Given the description of an element on the screen output the (x, y) to click on. 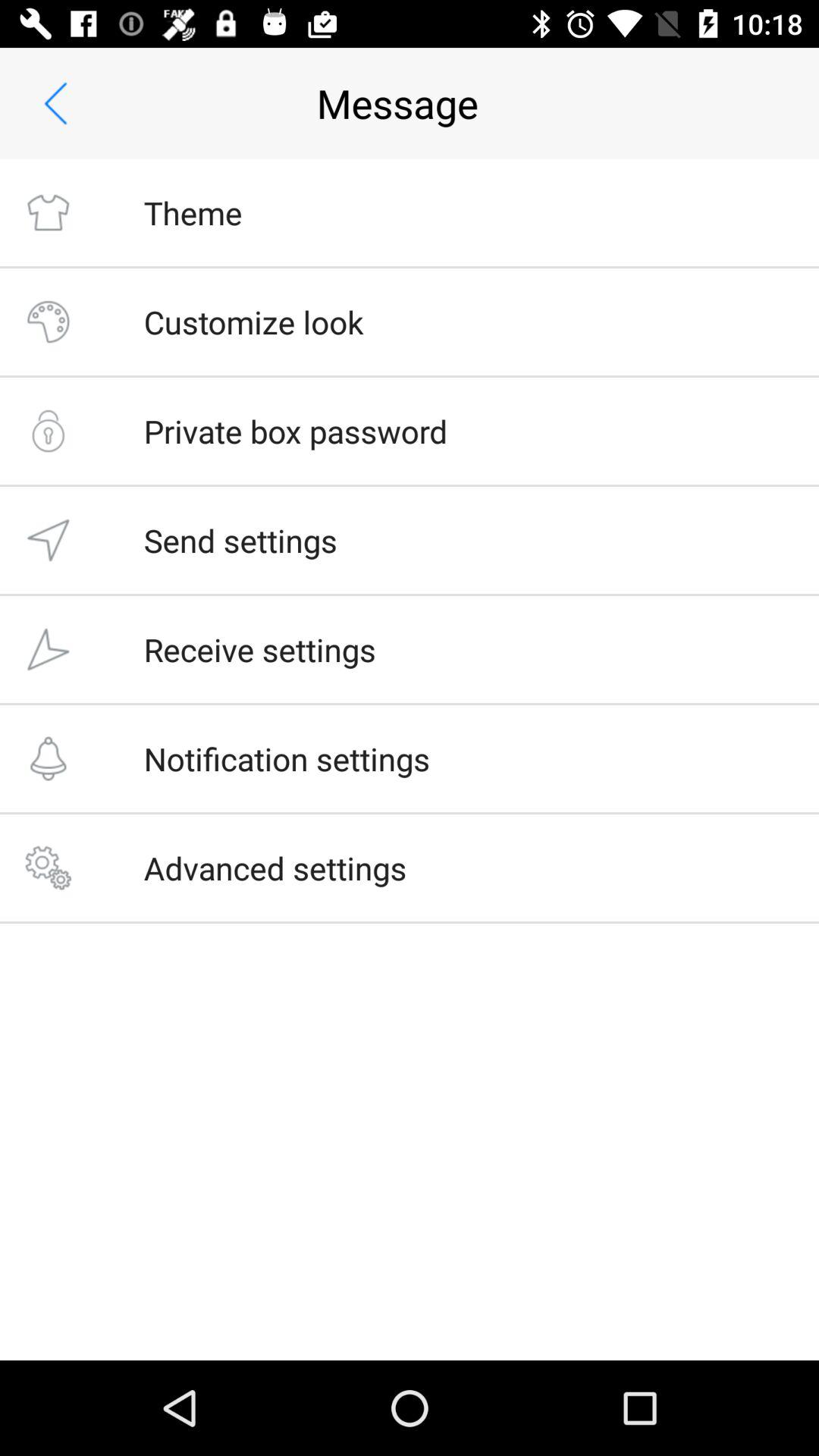
turn on the icon above the notification settings icon (259, 649)
